Given the description of an element on the screen output the (x, y) to click on. 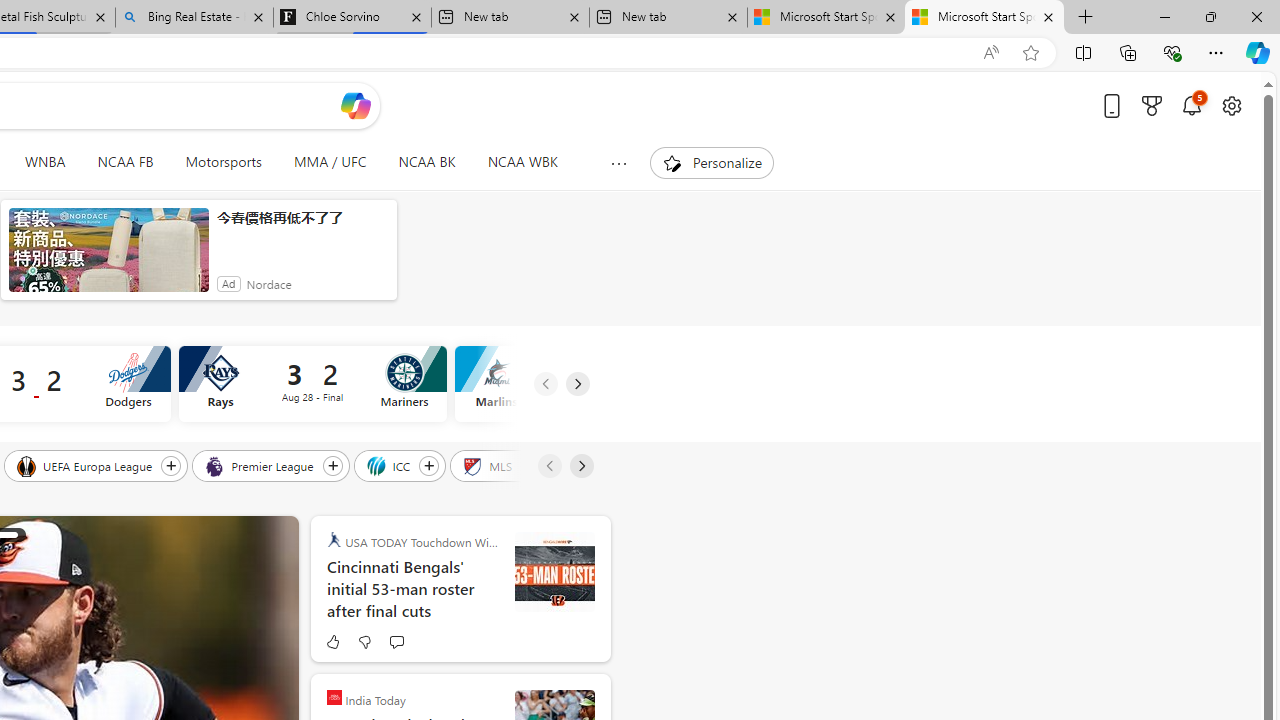
Microsoft rewards (1151, 105)
Premier League (260, 465)
Personalize (711, 162)
MMA / UFC (329, 162)
WNBA (44, 162)
NCAA WBK (522, 162)
Ad (228, 283)
Marlins 9 vs Rockies 8Final Date Aug 28 (588, 383)
Bing Real Estate - Home sales and rental listings (194, 17)
ICC (390, 465)
anim-content (107, 258)
Rays 3 vs Mariners 2Final Date Aug 28 (311, 383)
Next (580, 465)
